Given the description of an element on the screen output the (x, y) to click on. 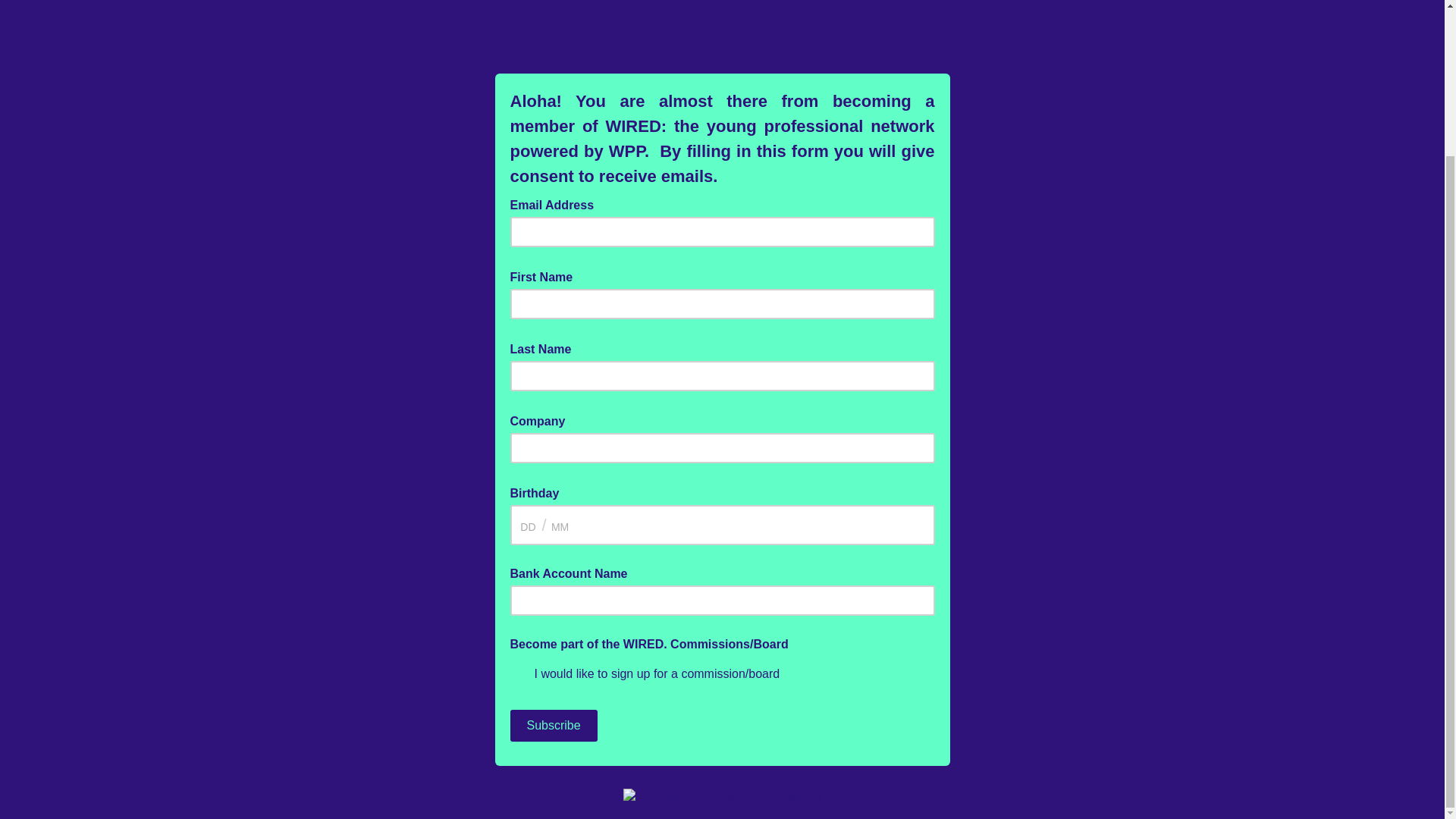
Mailchimp Email Marketing (722, 795)
Subscribe (552, 726)
Subscribe (552, 726)
